Given the description of an element on the screen output the (x, y) to click on. 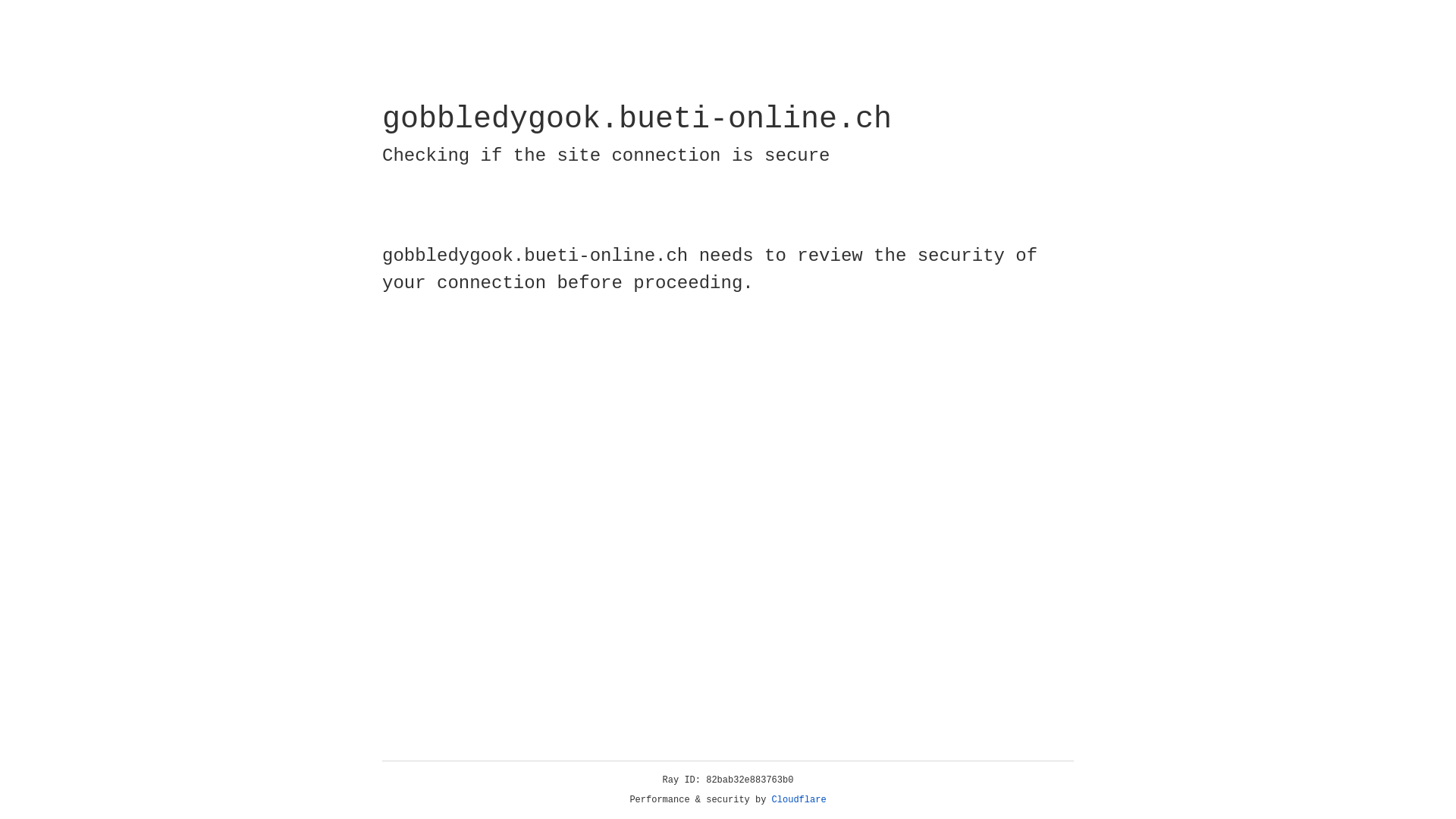
Cloudflare Element type: text (798, 799)
